Given the description of an element on the screen output the (x, y) to click on. 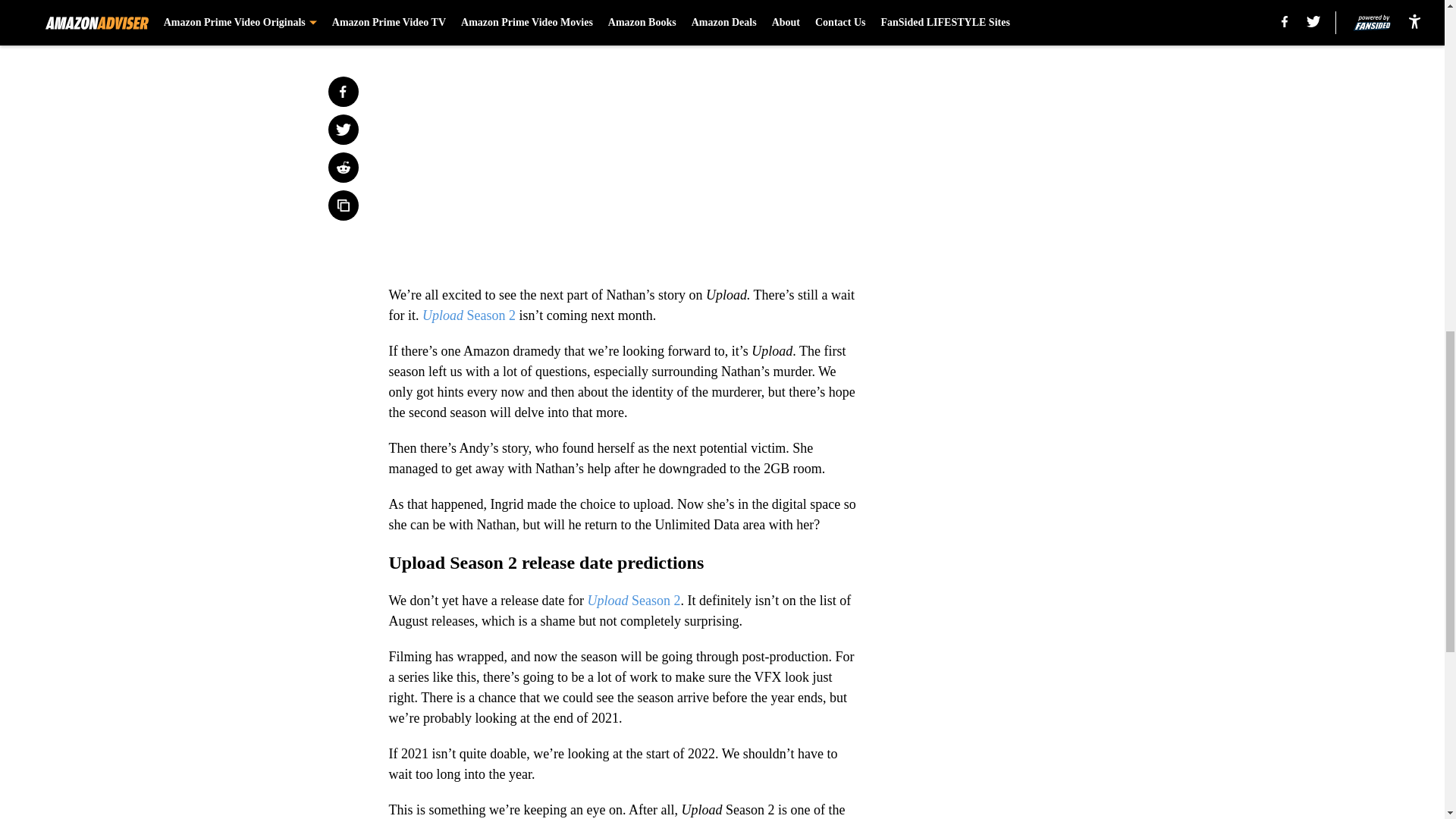
Upload Season 2 (468, 314)
Upload Season 2 (634, 600)
